Given the description of an element on the screen output the (x, y) to click on. 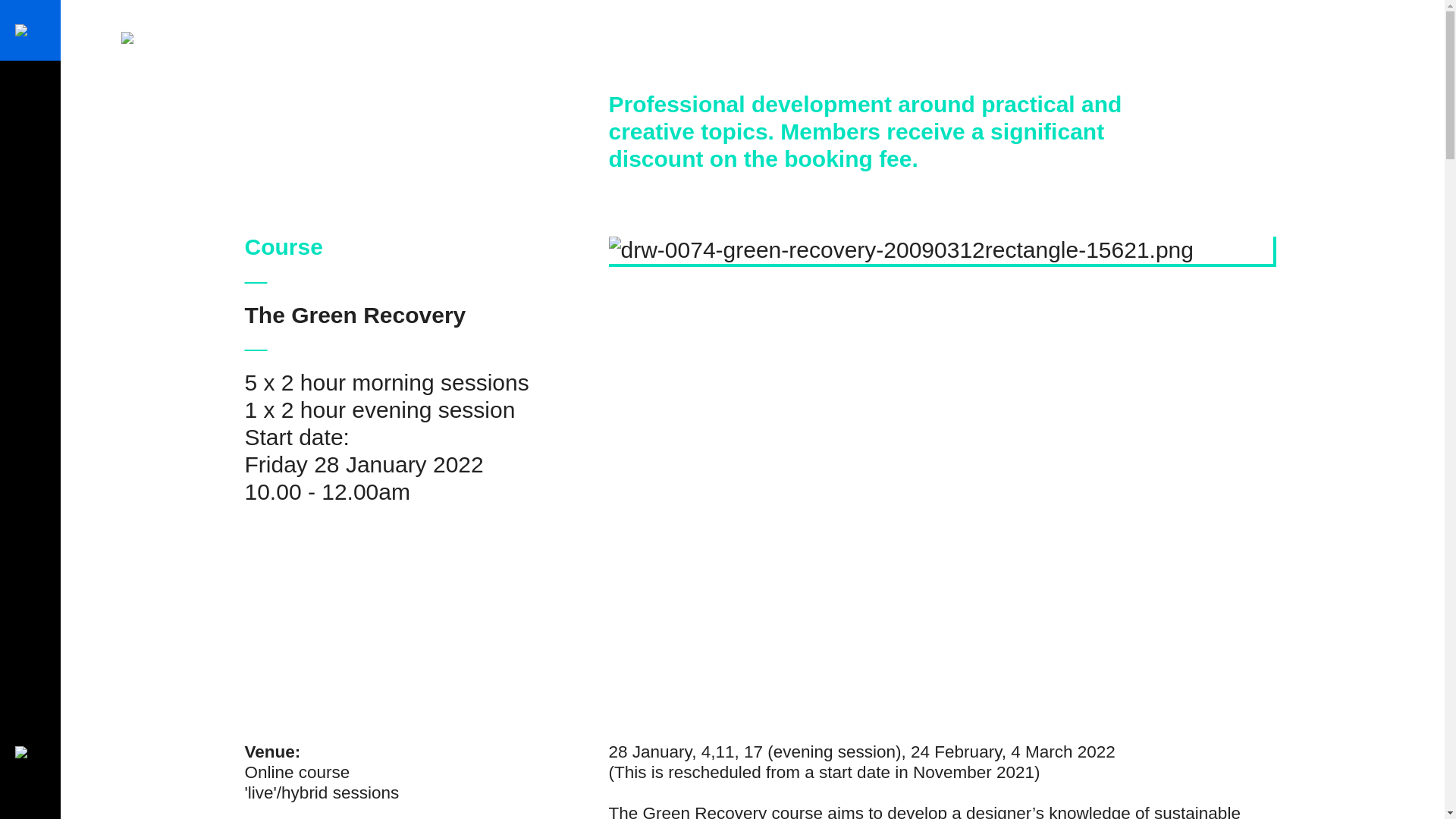
The Engineering Club (242, 35)
